Given the description of an element on the screen output the (x, y) to click on. 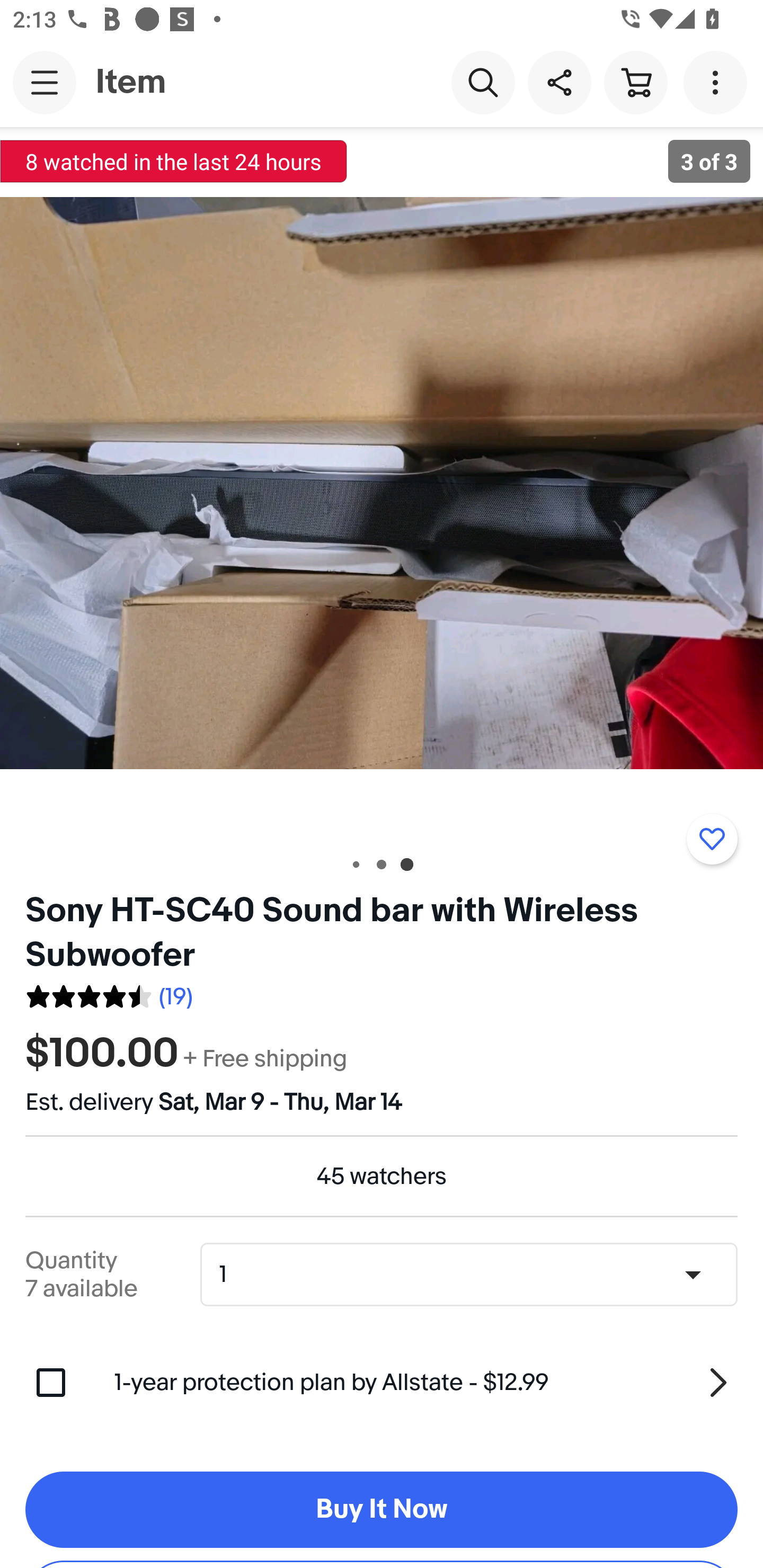
Main navigation, open (44, 82)
Search (482, 81)
Share this item (559, 81)
Cart button shopping cart (635, 81)
More options (718, 81)
Item image 3 of 3 (381, 482)
8 watched in the last 24 hours (173, 161)
Add to watchlist (711, 838)
Quantity,1,7 available 1 (474, 1274)
1-year protection plan by Allstate - $12.99 (425, 1382)
Buy It Now (381, 1509)
